Given the description of an element on the screen output the (x, y) to click on. 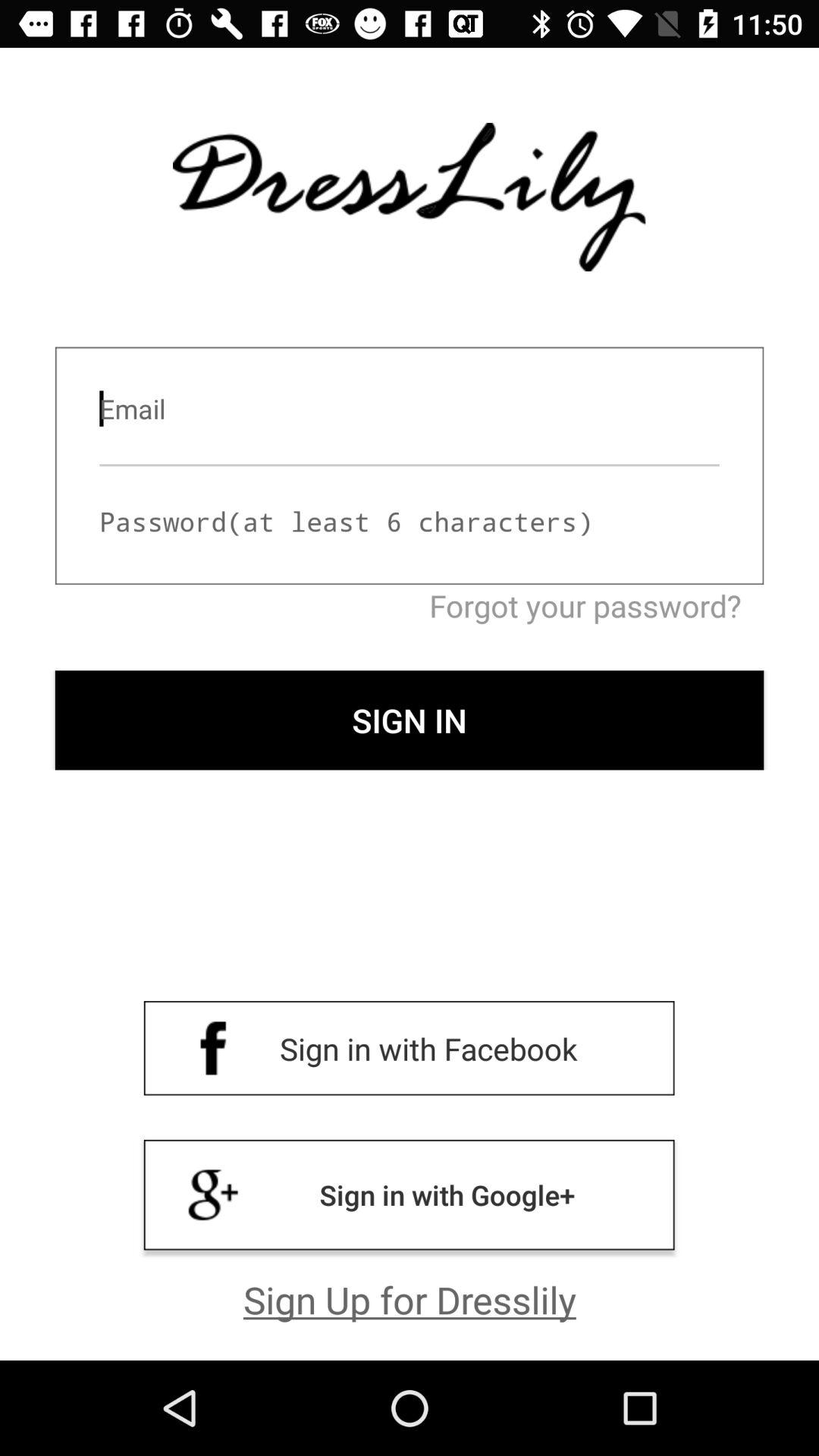
scroll until sign up for icon (409, 1299)
